Given the description of an element on the screen output the (x, y) to click on. 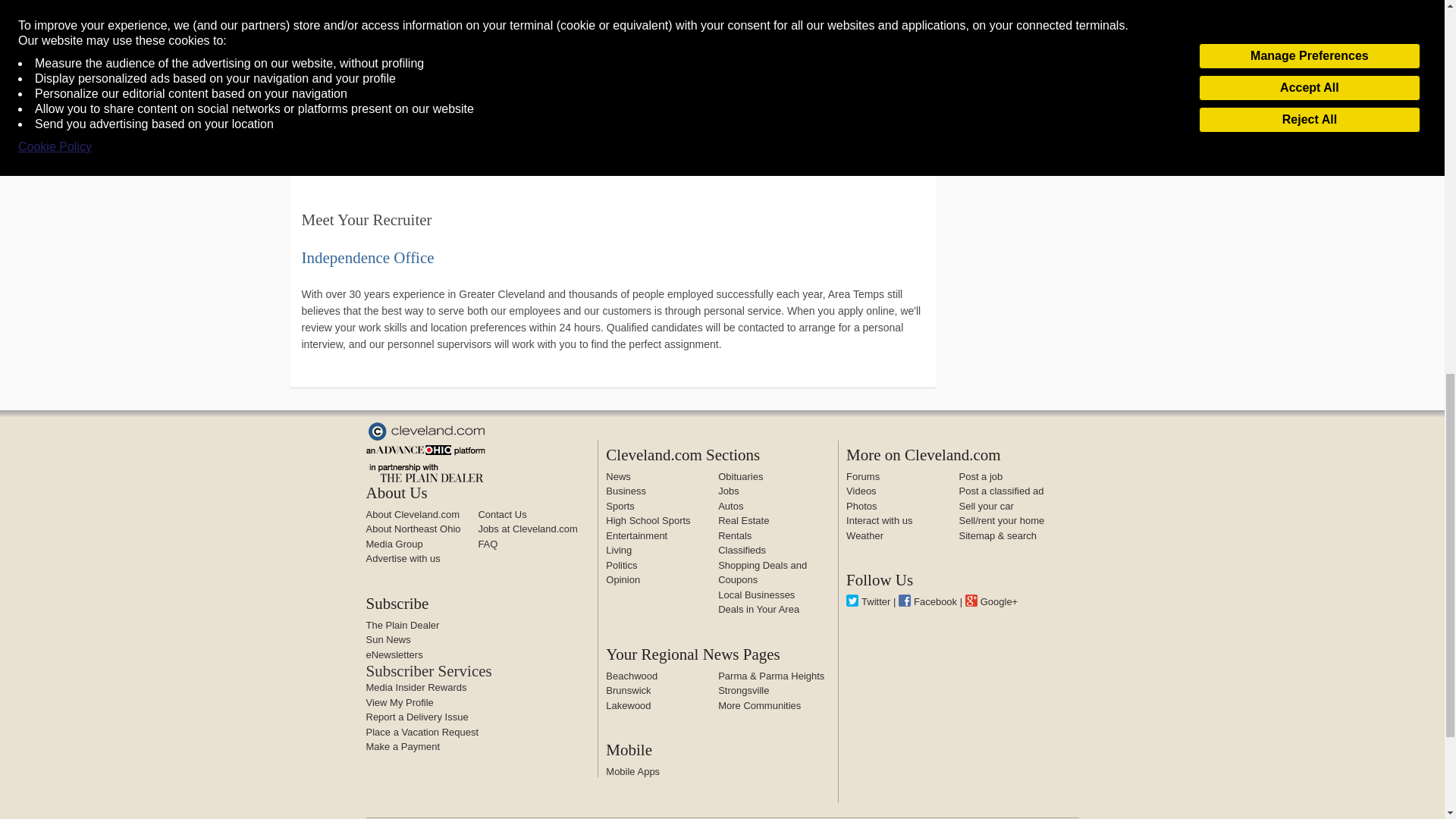
FAQ (487, 543)
Contact Us (501, 514)
